Given the description of an element on the screen output the (x, y) to click on. 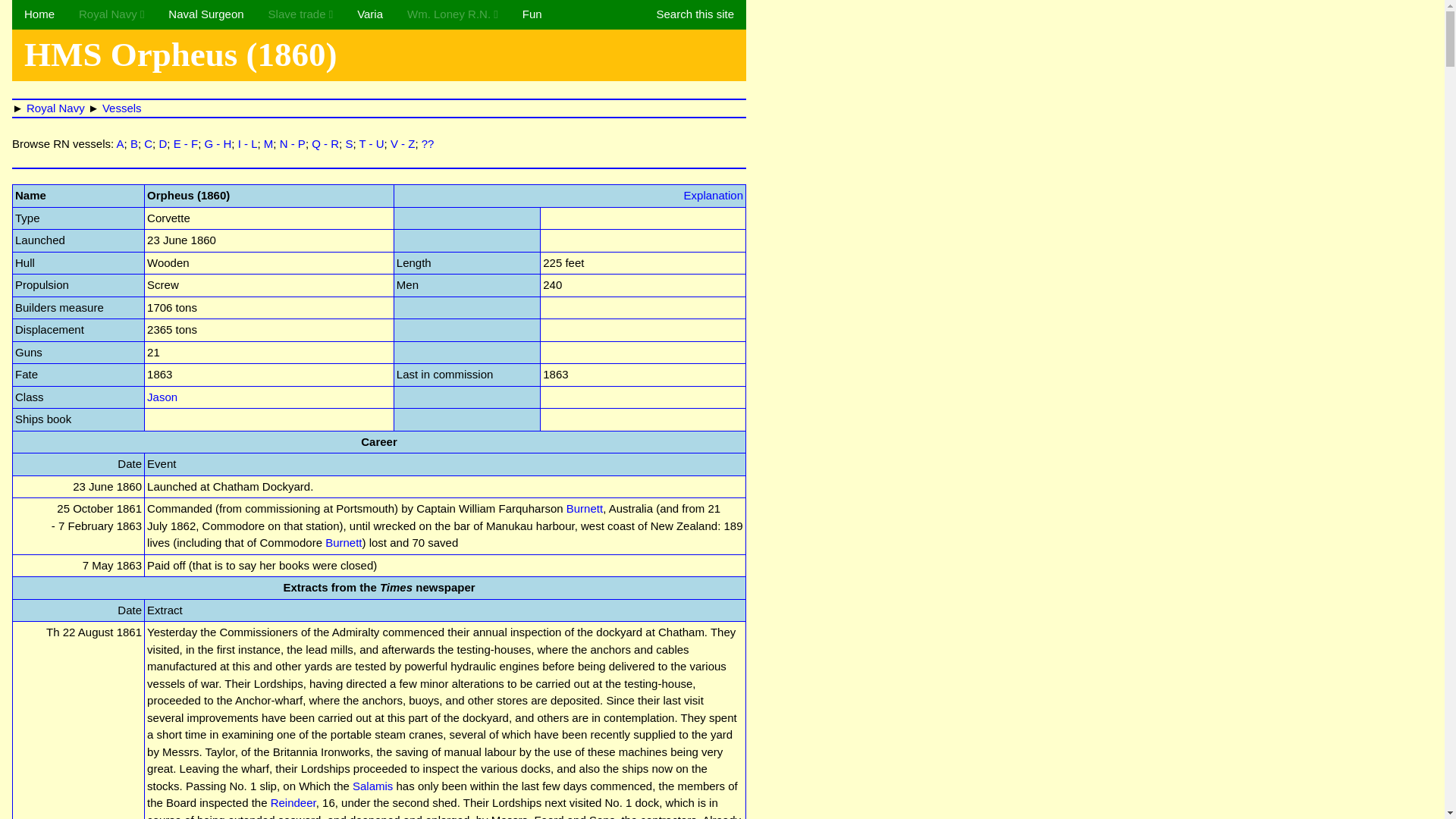
Wm. Loney R.N. (452, 14)
Slave trade (301, 14)
Varia (369, 14)
Naval Surgeon (205, 14)
Fun (532, 14)
Royal Navy (110, 14)
Search this site (694, 14)
Home (38, 14)
